Given the description of an element on the screen output the (x, y) to click on. 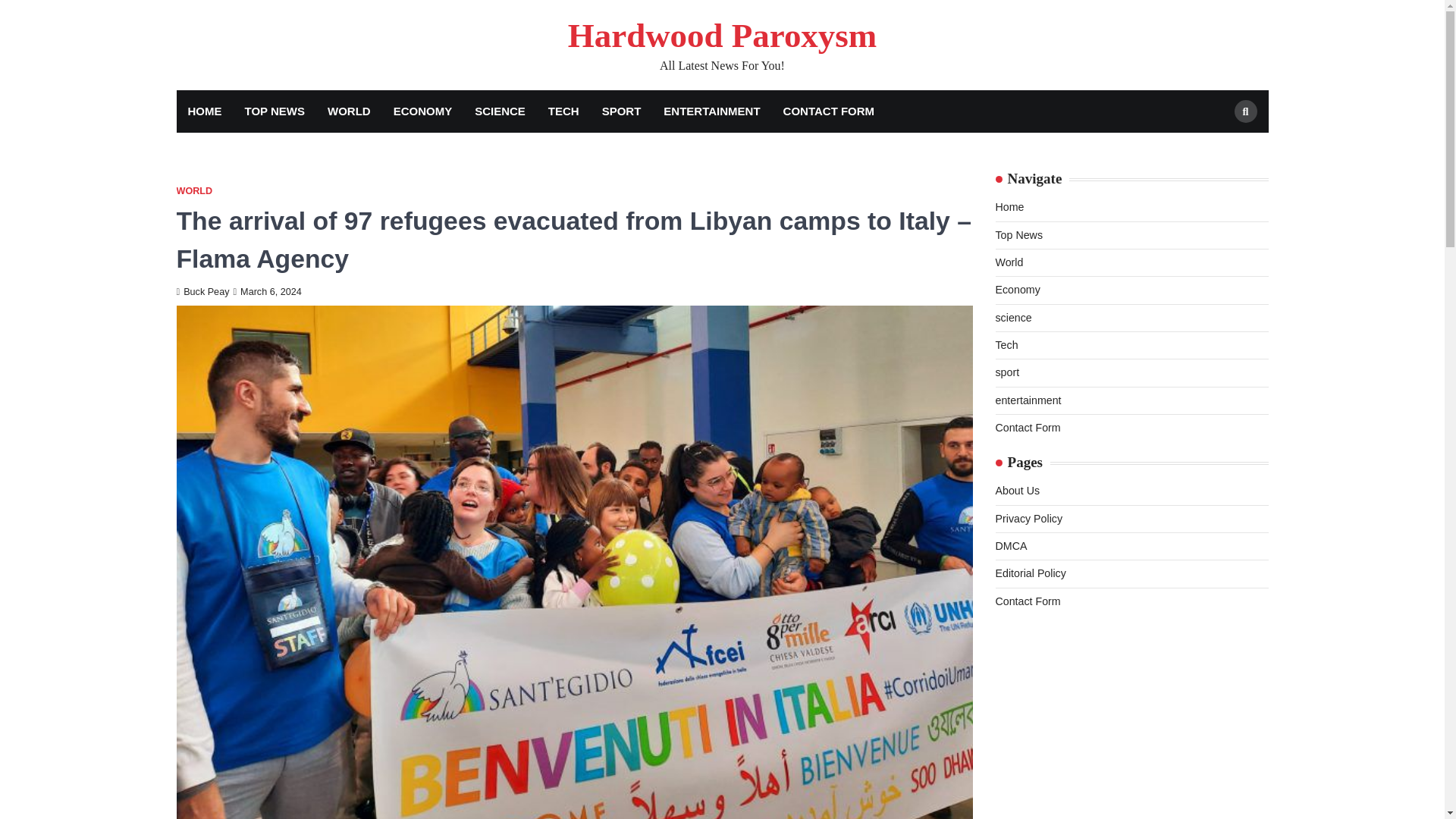
Buck Peay (202, 291)
sport (1006, 372)
Contact Form (1026, 427)
WORLD (348, 111)
Privacy Policy (1028, 518)
Hardwood Paroxysm (722, 35)
Search (1245, 110)
entertainment (1027, 399)
Contact Form (1026, 601)
Top News (1018, 234)
SCIENCE (500, 111)
DMCA (1010, 545)
SPORT (621, 111)
Economy (1016, 289)
ENTERTAINMENT (711, 111)
